Given the description of an element on the screen output the (x, y) to click on. 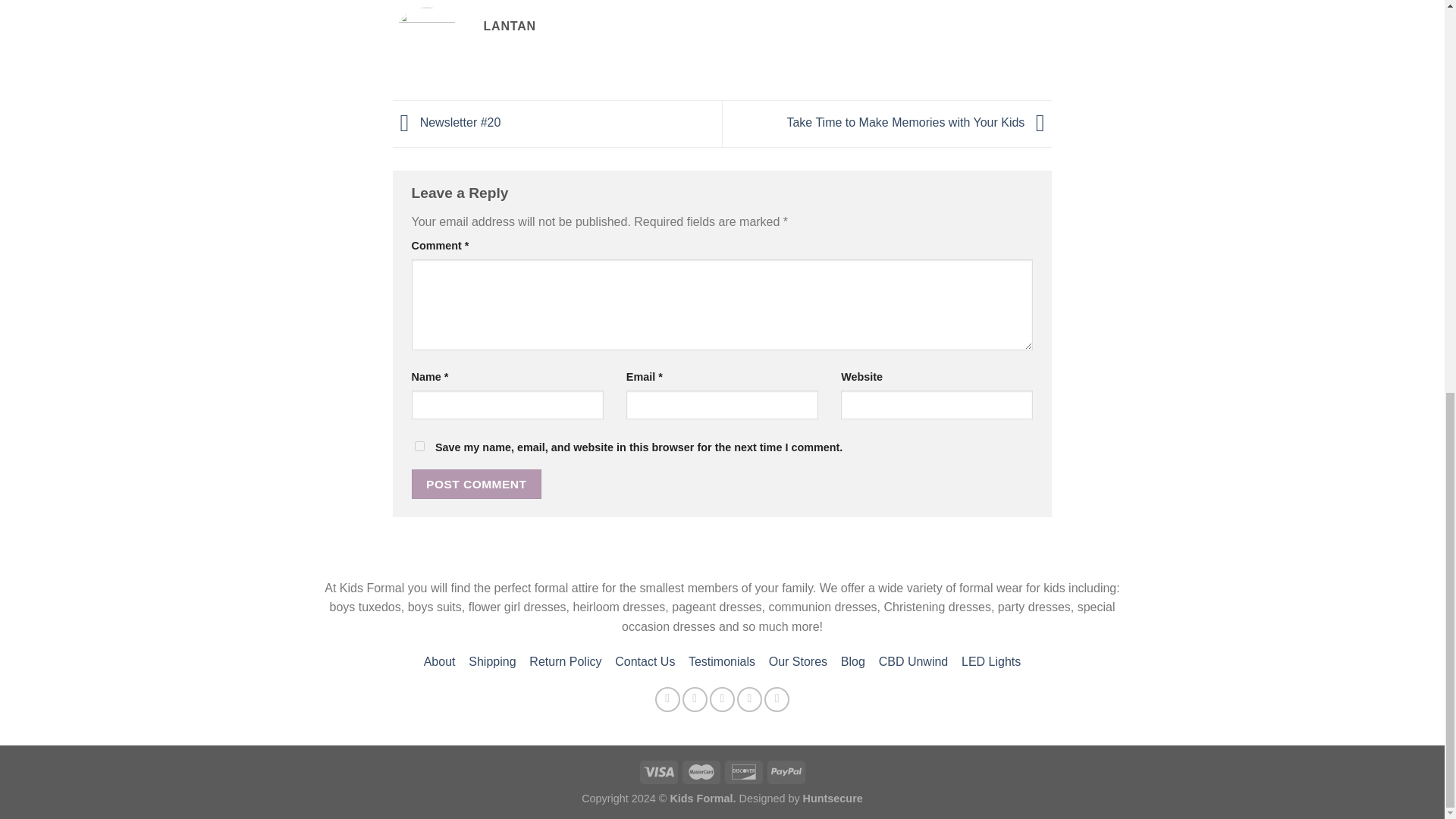
Post Comment (475, 483)
yes (418, 446)
